Given the description of an element on the screen output the (x, y) to click on. 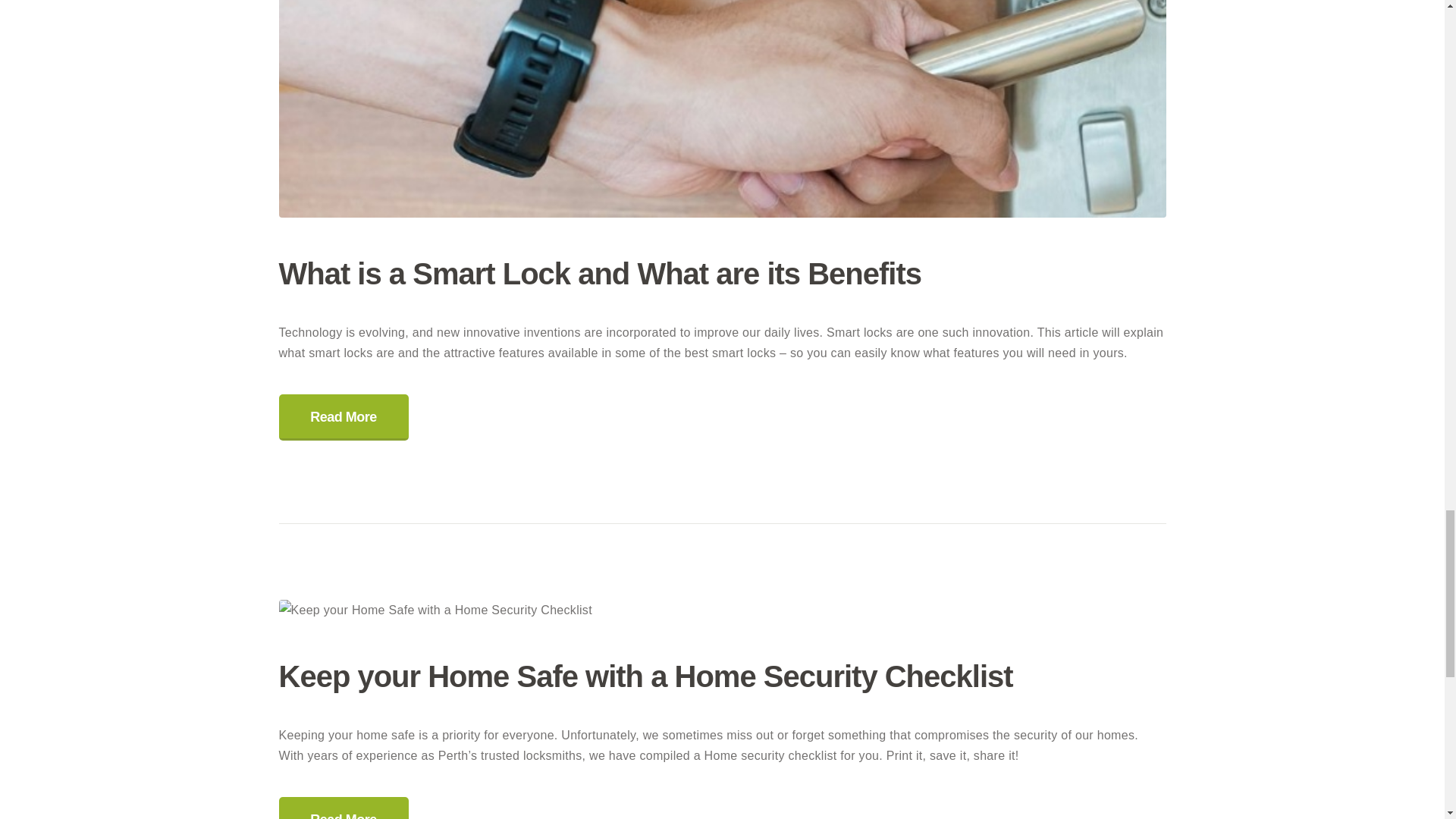
Read More (344, 807)
What is a Smart Lock and What are its Benefits (722, 273)
Keep your Home Safe with a Home Security Checklist (722, 676)
Read More (344, 416)
